Given the description of an element on the screen output the (x, y) to click on. 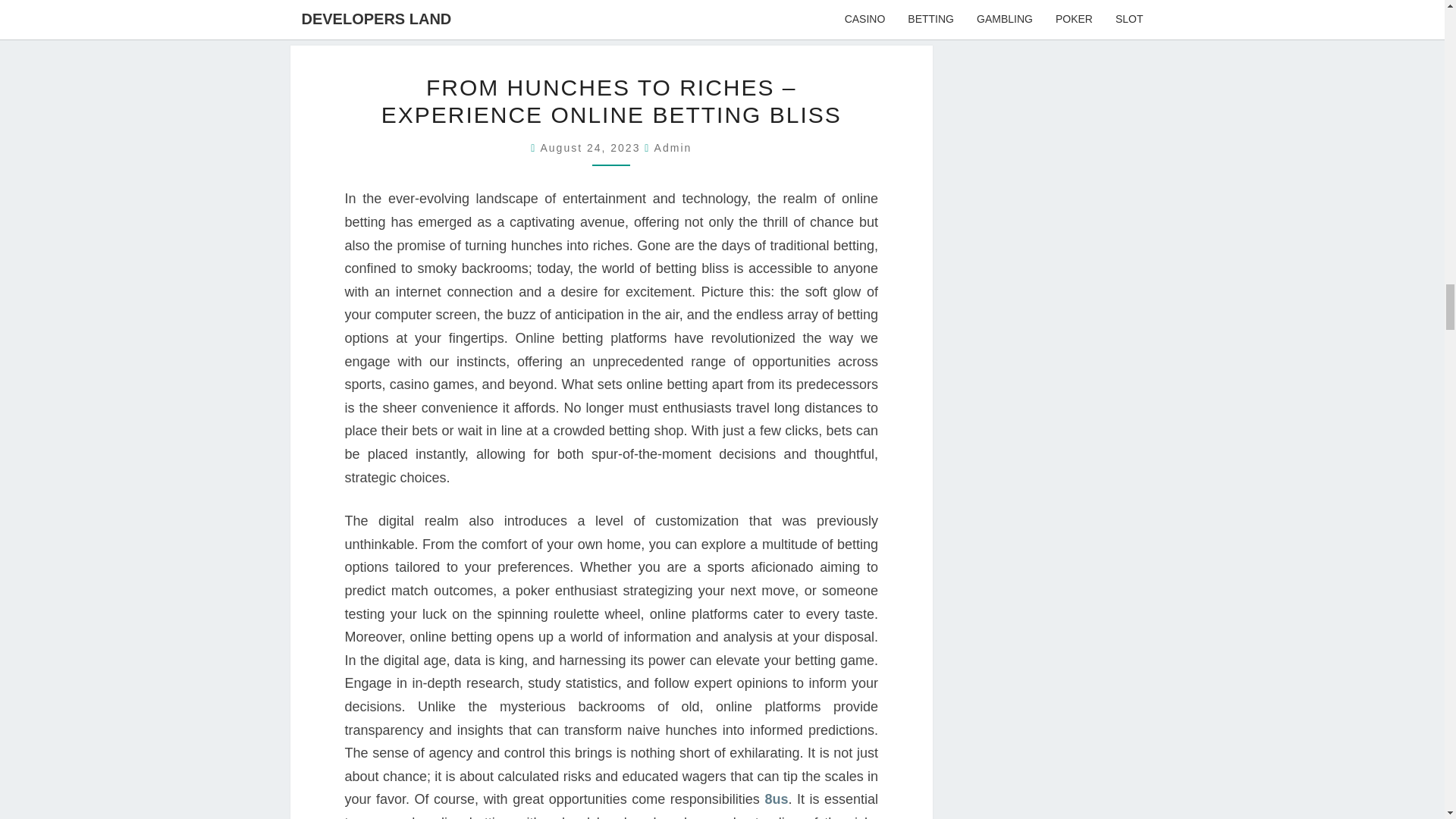
12:28 pm (592, 147)
Admin (673, 147)
8us (775, 798)
View all posts by admin (673, 147)
August 24, 2023 (592, 147)
